Given the description of an element on the screen output the (x, y) to click on. 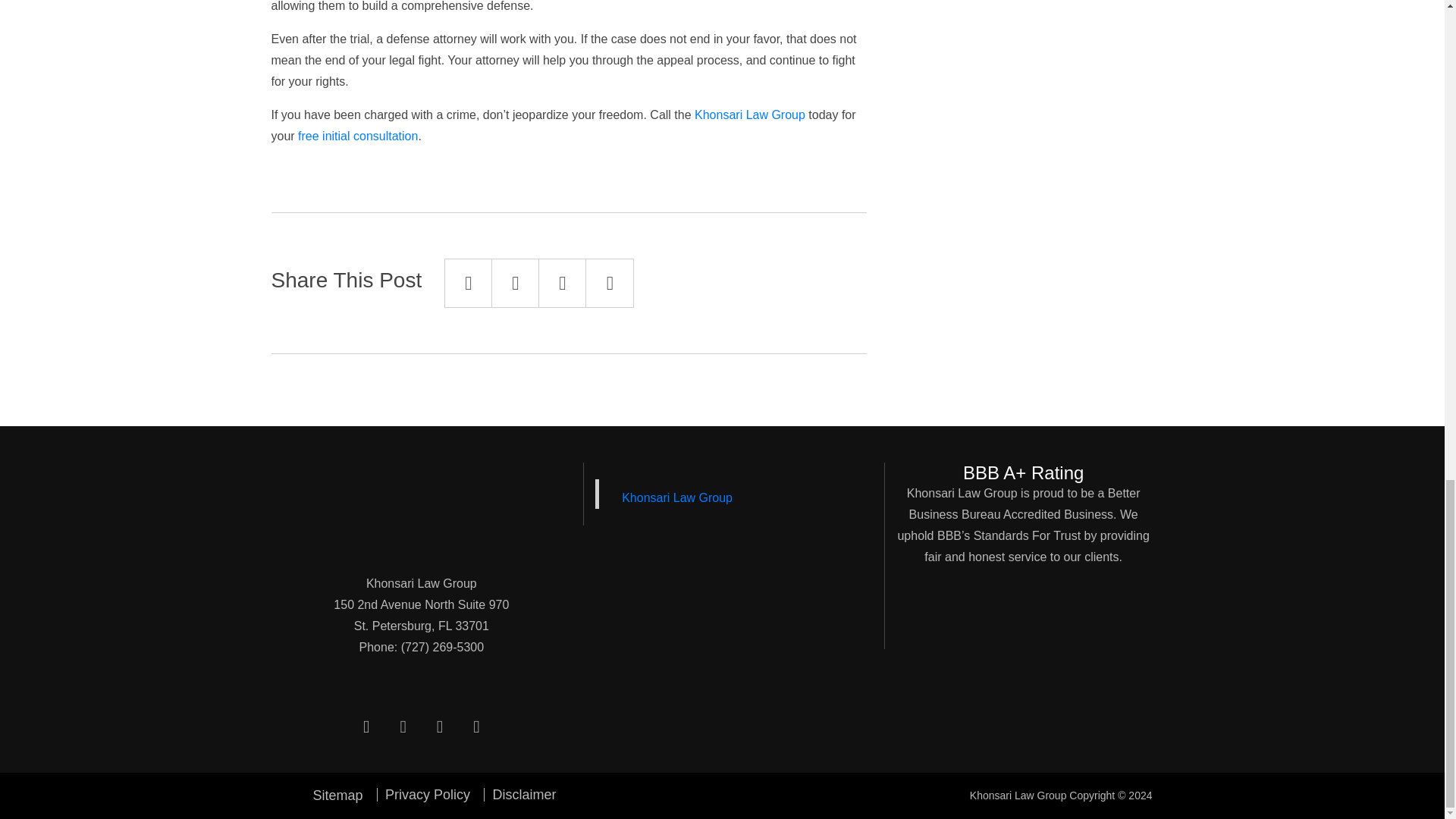
free initial consultation (357, 135)
Khonsari Law Group (749, 114)
